Given the description of an element on the screen output the (x, y) to click on. 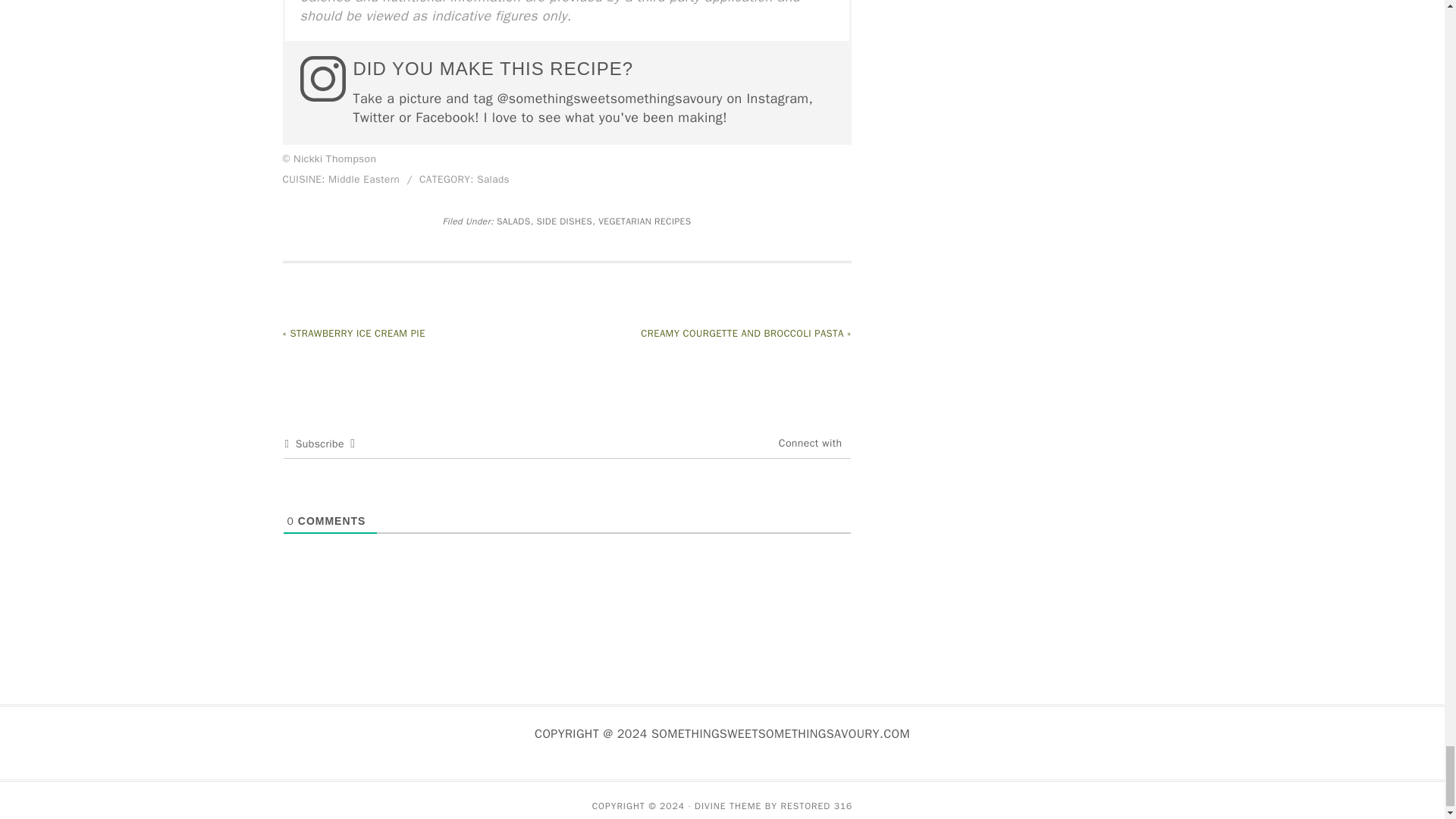
VEGETARIAN RECIPES (644, 221)
SIDE DISHES (563, 221)
SALADS (513, 221)
